Given the description of an element on the screen output the (x, y) to click on. 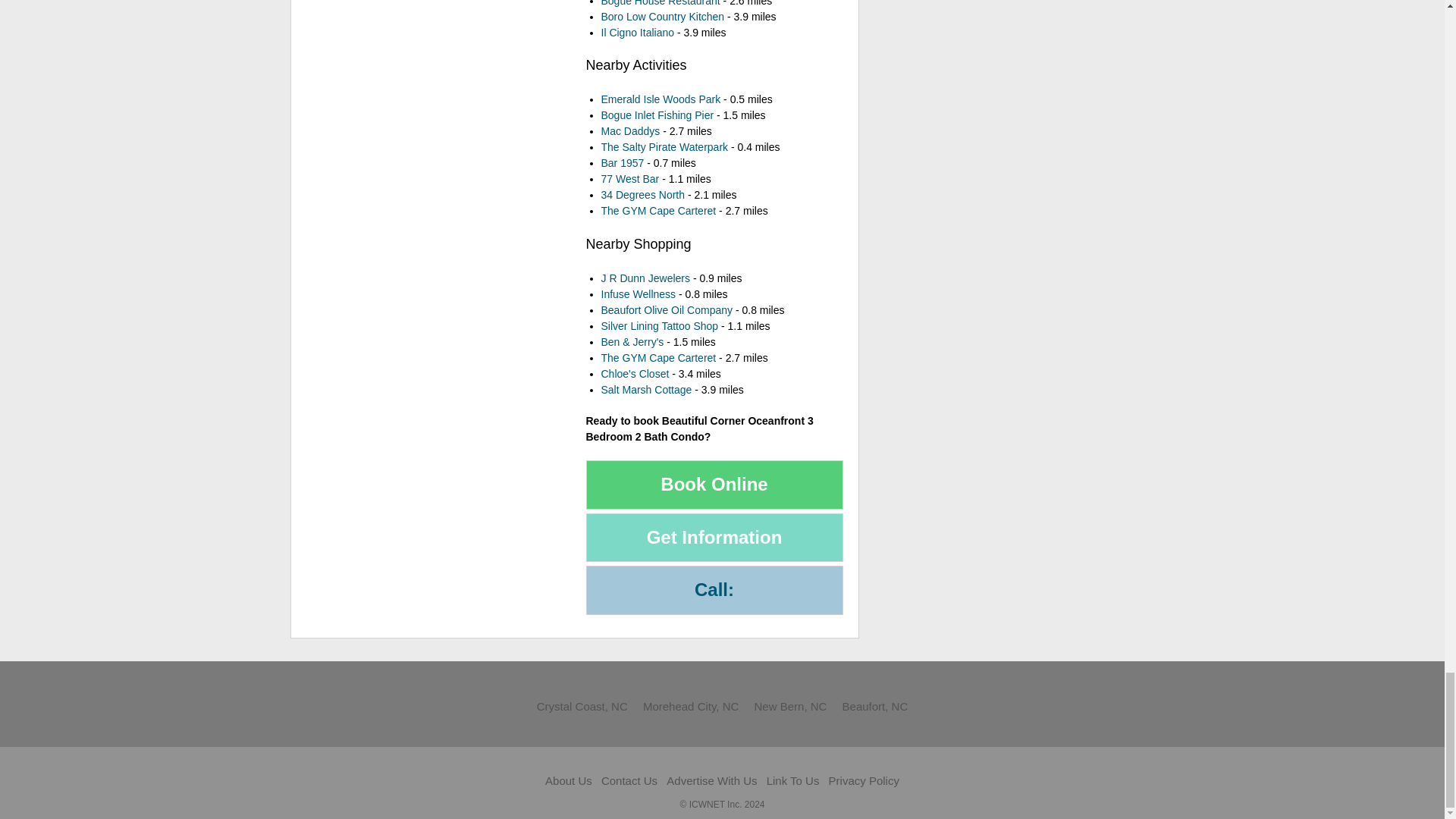
Bogue House Restaurant (659, 3)
Il Cigno Italiano (636, 32)
Boro Low Country Kitchen (661, 15)
